Given the description of an element on the screen output the (x, y) to click on. 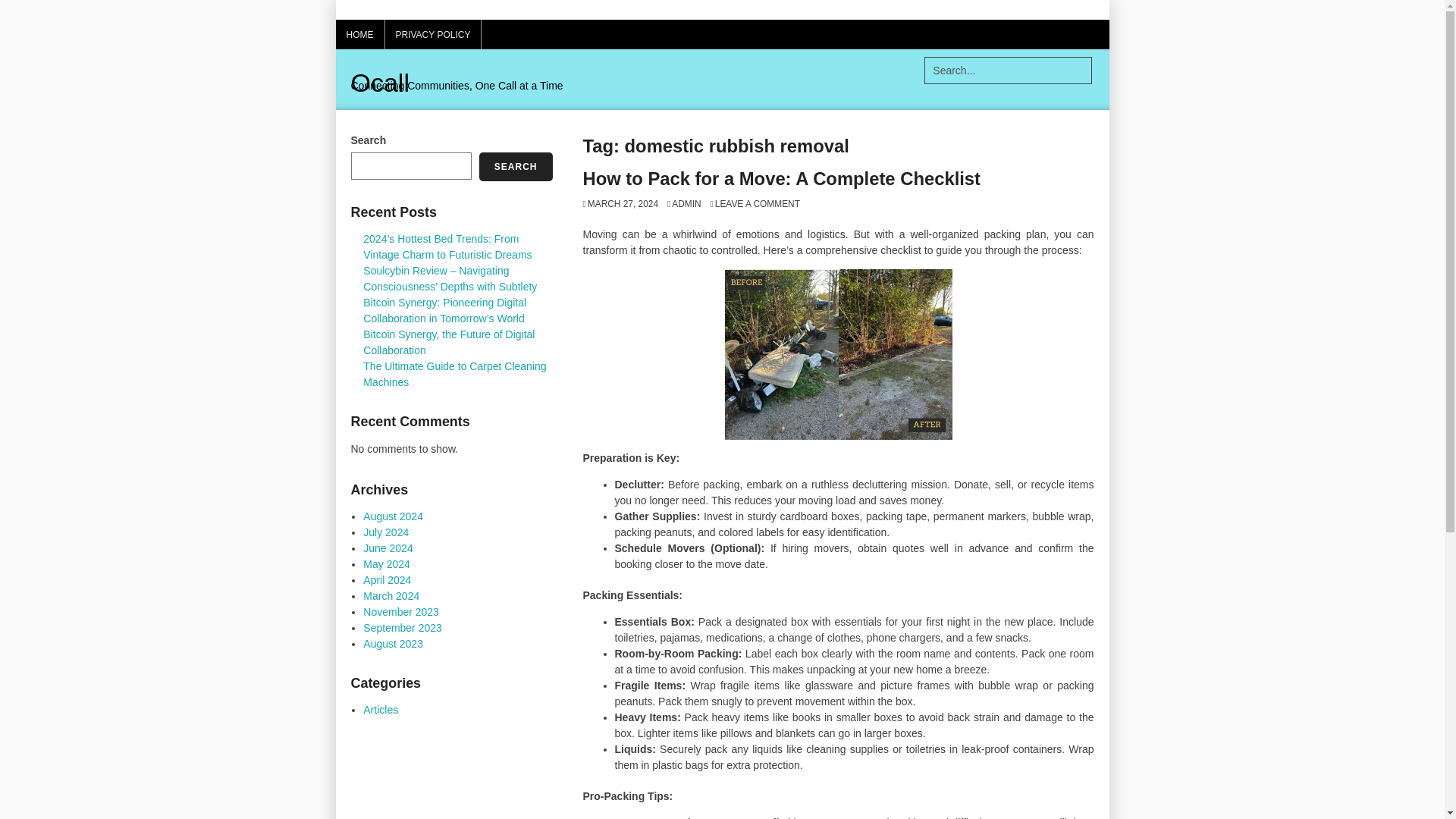
August 2023 (392, 644)
How to Pack for a Move: A Complete Checklist (780, 178)
SEARCH (516, 166)
HOME (359, 34)
March 2024 (390, 595)
LEAVE A COMMENT (754, 204)
June 2024 (387, 548)
November 2023 (400, 612)
Articles (379, 709)
May 2024 (385, 563)
